Given the description of an element on the screen output the (x, y) to click on. 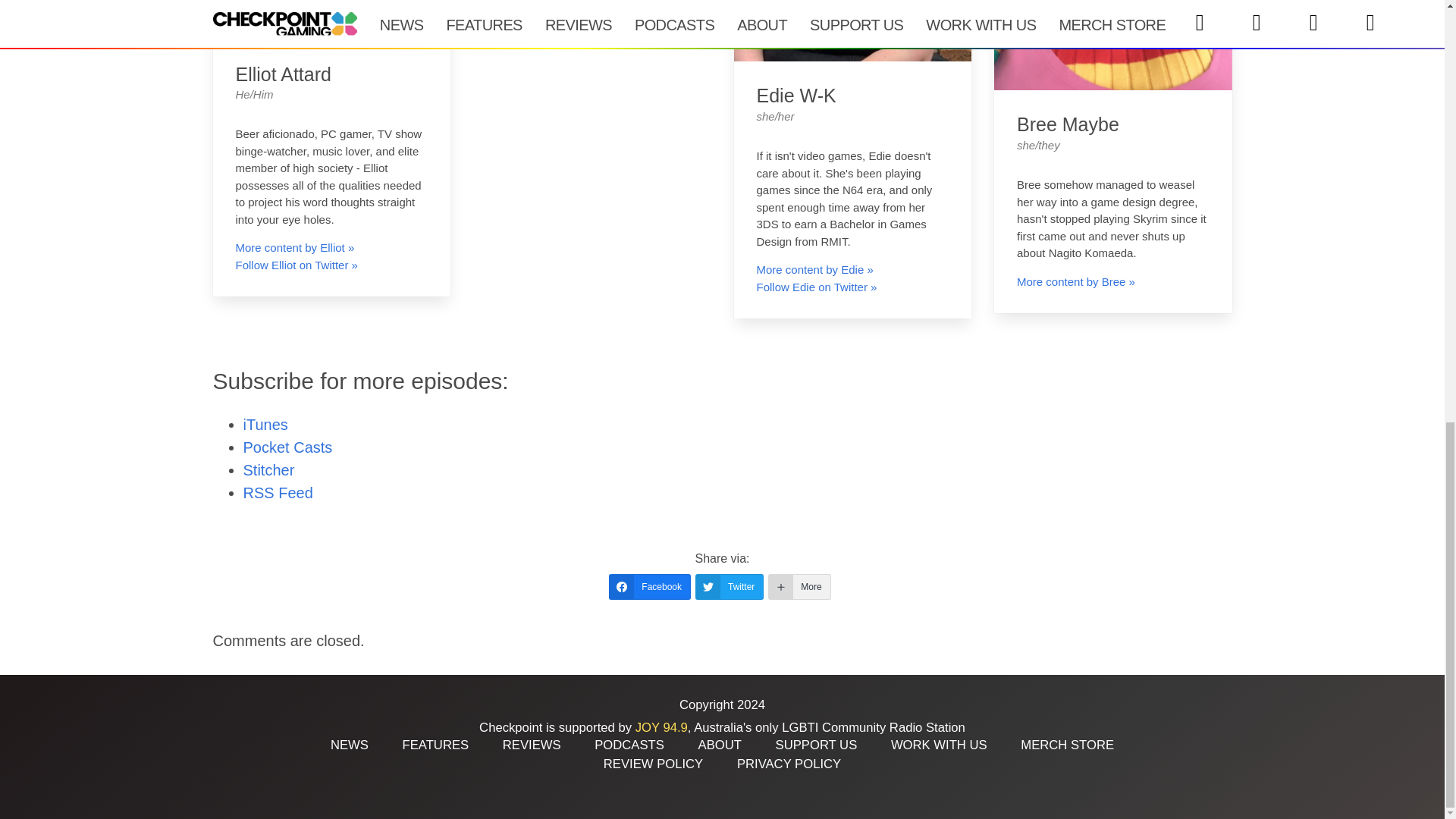
Facebook (649, 586)
iTunes (264, 424)
Stitcher (268, 469)
JOY 94.9 (660, 727)
More (798, 586)
MERCH STORE (1066, 744)
PRIVACY POLICY (788, 763)
REVIEW POLICY (653, 763)
RSS Feed (278, 492)
WORK WITH US (939, 744)
